Given the description of an element on the screen output the (x, y) to click on. 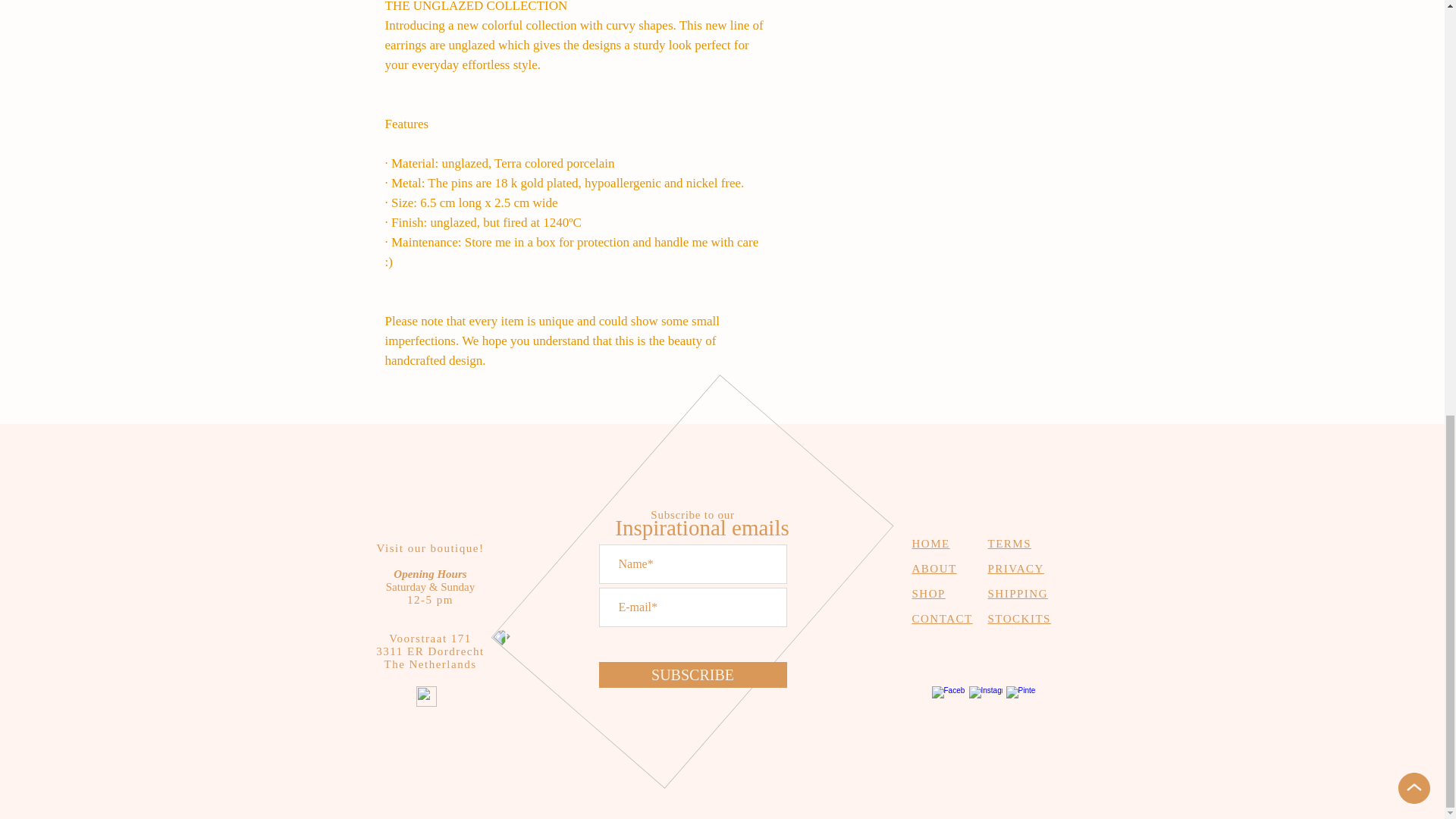
HOME (930, 543)
STOCKITS (1018, 618)
ABOUT (933, 568)
CONTACT (941, 618)
iconmonstr-location-1-240.png (424, 696)
SHIPPING (1017, 593)
element.png (665, 489)
SHOP (927, 593)
TERMS (1008, 543)
SUBSCRIBE (692, 674)
PRIVACY (1015, 568)
